Given the description of an element on the screen output the (x, y) to click on. 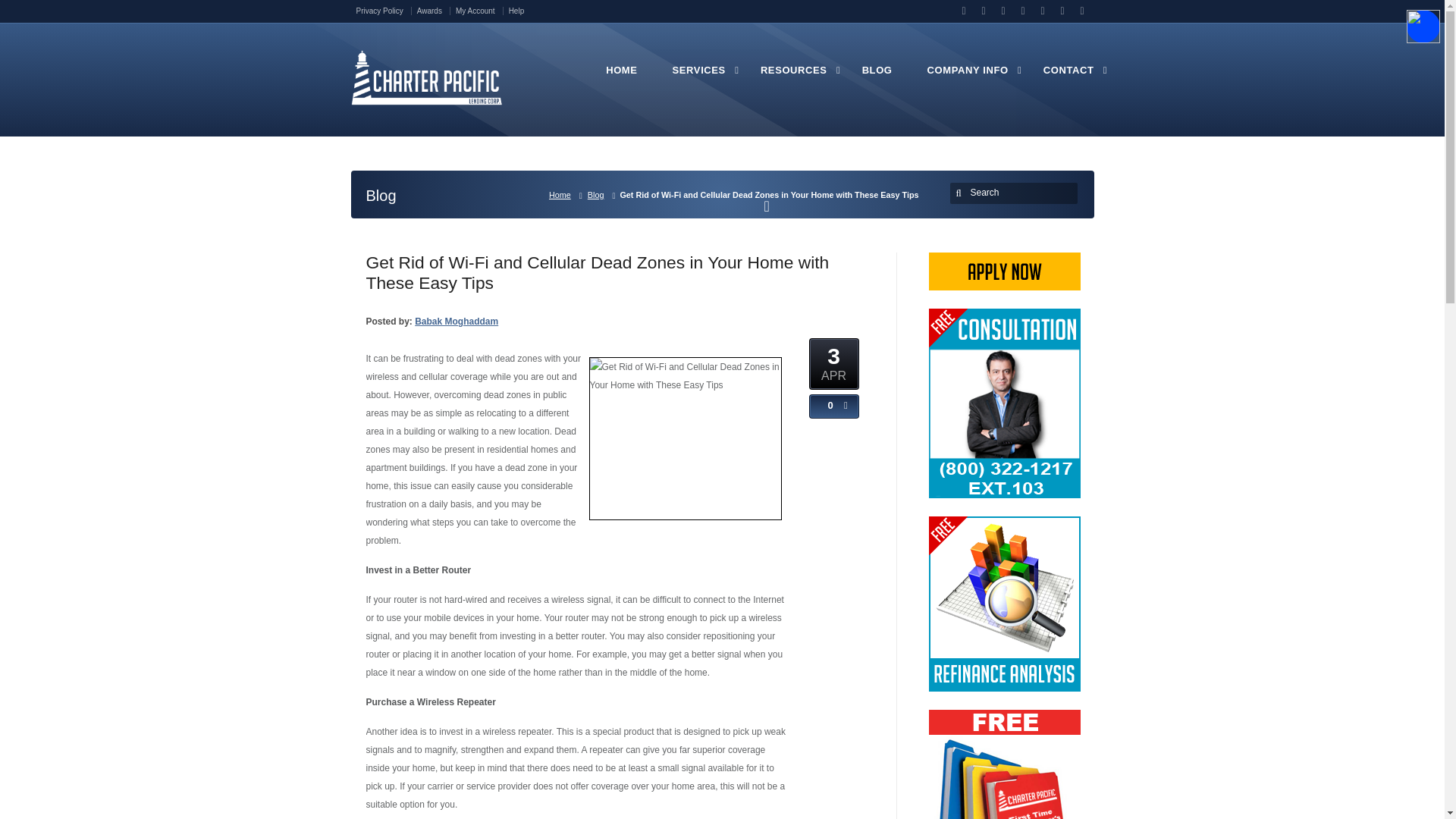
Search (1016, 192)
Blog (598, 194)
Babak Moghaddam (455, 321)
HOME (621, 78)
Accessibility Menu (1422, 26)
Home (562, 194)
My Account (479, 10)
RESOURCES (793, 78)
Privacy Policy (384, 10)
0 (826, 405)
